Given the description of an element on the screen output the (x, y) to click on. 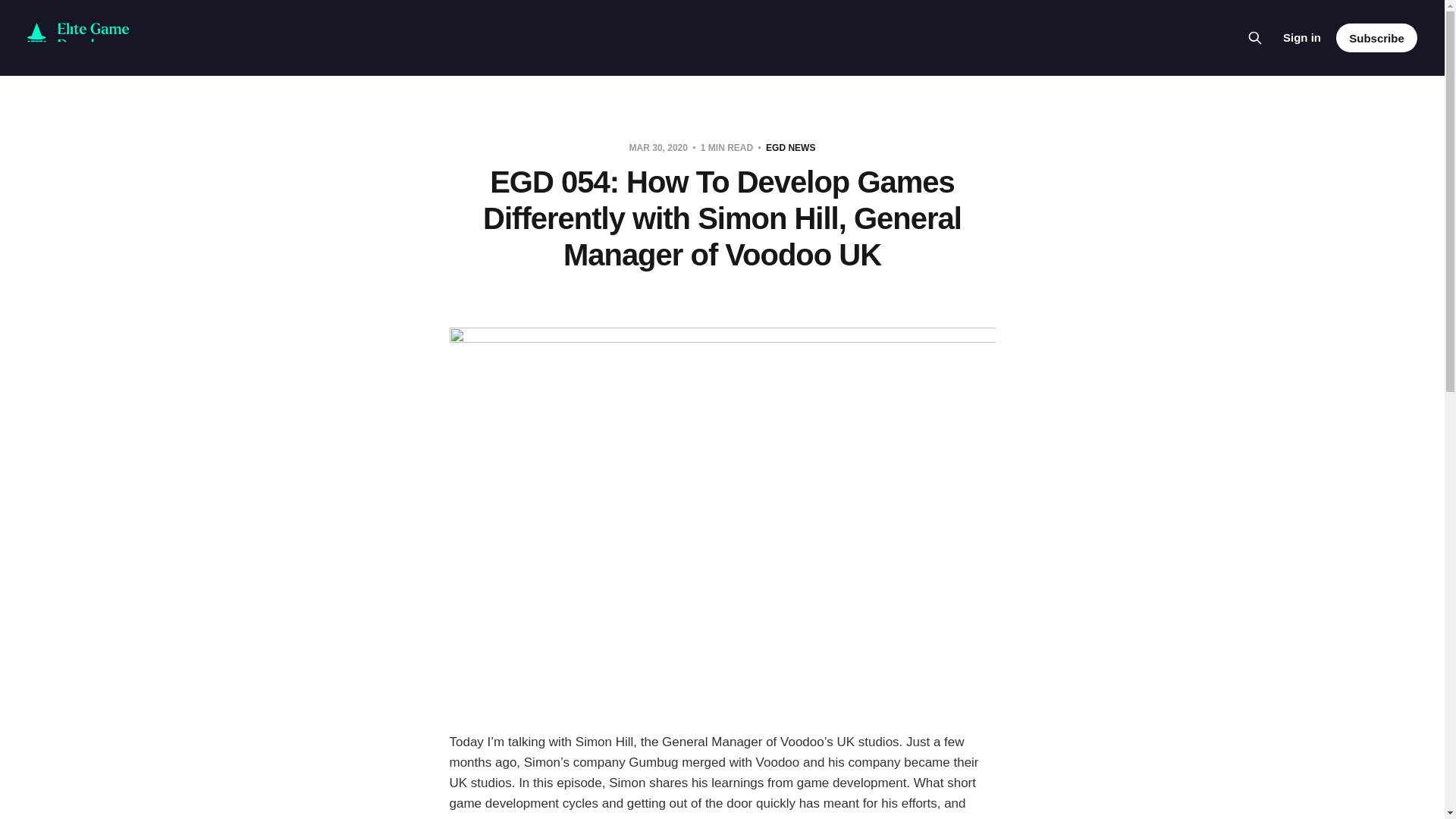
EGD NEWS (790, 147)
Sign in (1301, 37)
Subscribe (1376, 37)
